Given the description of an element on the screen output the (x, y) to click on. 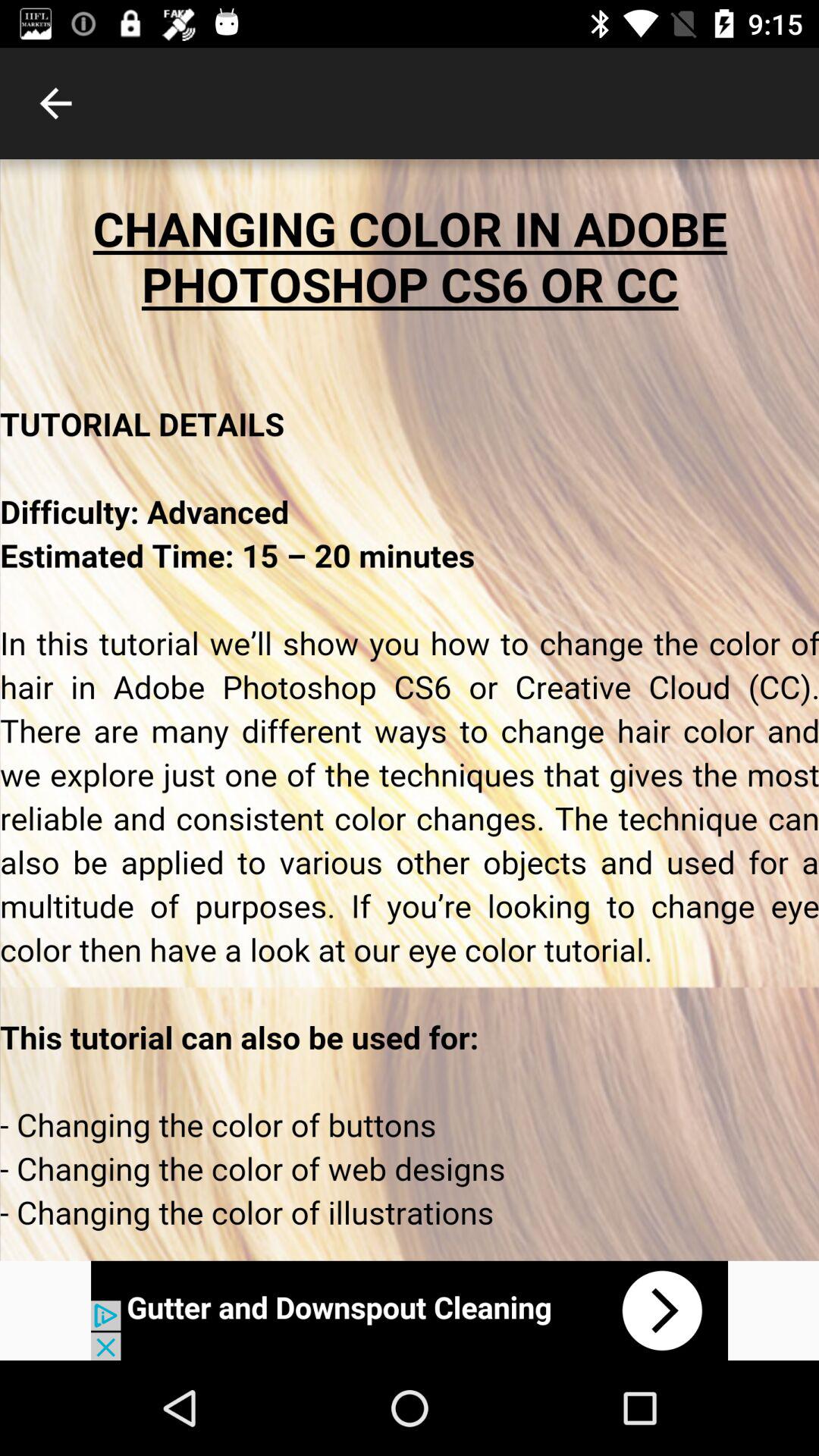
next (409, 1310)
